Given the description of an element on the screen output the (x, y) to click on. 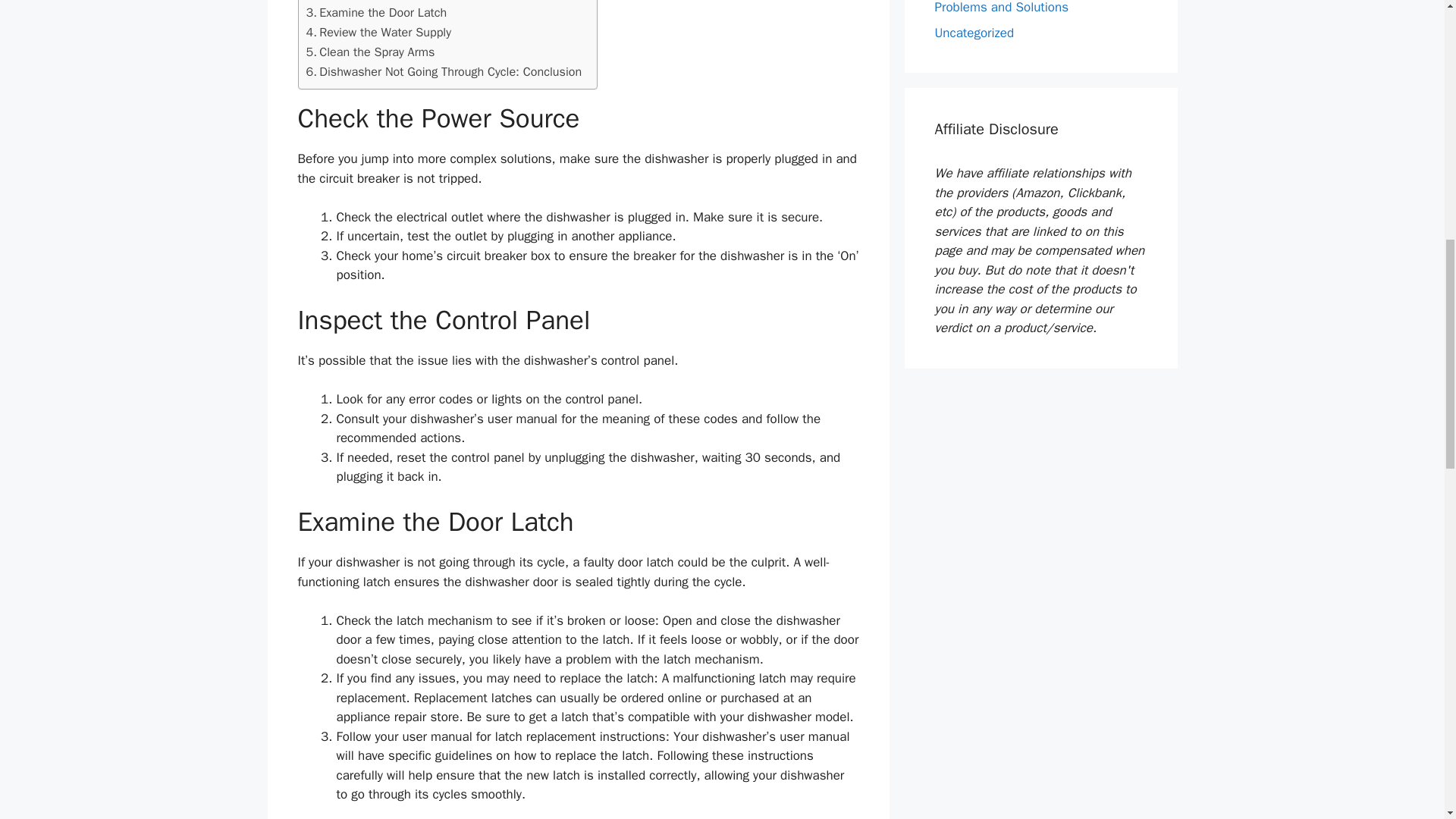
Problems and Solutions (1001, 7)
Uncategorized (973, 32)
Inspect the Control Panel (379, 1)
Review the Water Supply (378, 32)
Examine the Door Latch (375, 12)
Clean the Spray Arms (370, 52)
Inspect the Control Panel (379, 1)
Dishwasher Not Going Through Cycle: Conclusion (443, 71)
Clean the Spray Arms (370, 52)
Examine the Door Latch (375, 12)
Review the Water Supply (378, 32)
Dishwasher Not Going Through Cycle: Conclusion (443, 71)
